Given the description of an element on the screen output the (x, y) to click on. 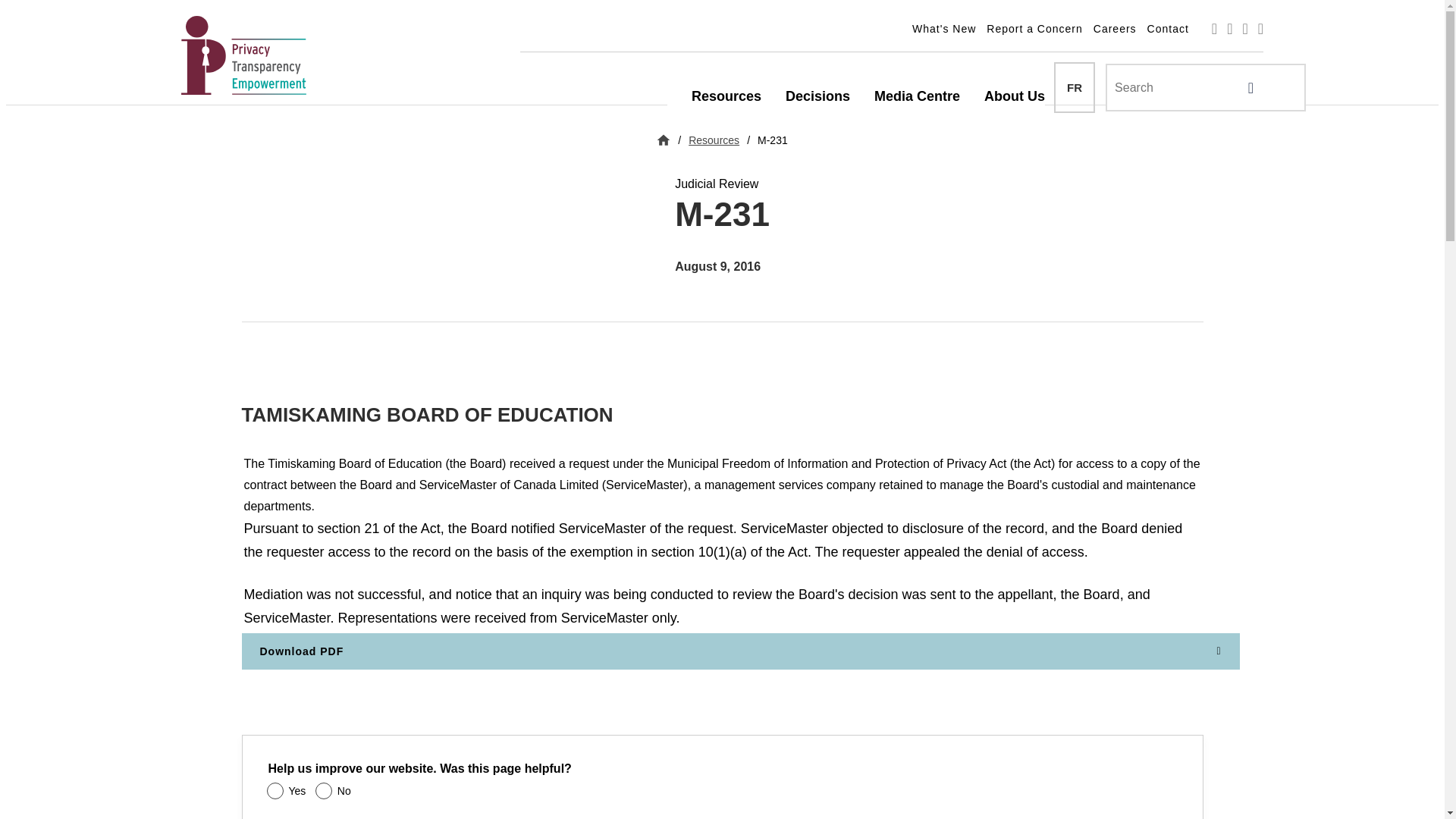
Careers (1120, 28)
Media Centre (917, 96)
Share to Linkedin (309, 377)
Home (247, 55)
Resources (726, 96)
Share to X (281, 377)
Skip to main content (722, 15)
M-231.pdf (740, 651)
Share to Facebook (254, 377)
Report a Concern (1040, 28)
